Given the description of an element on the screen output the (x, y) to click on. 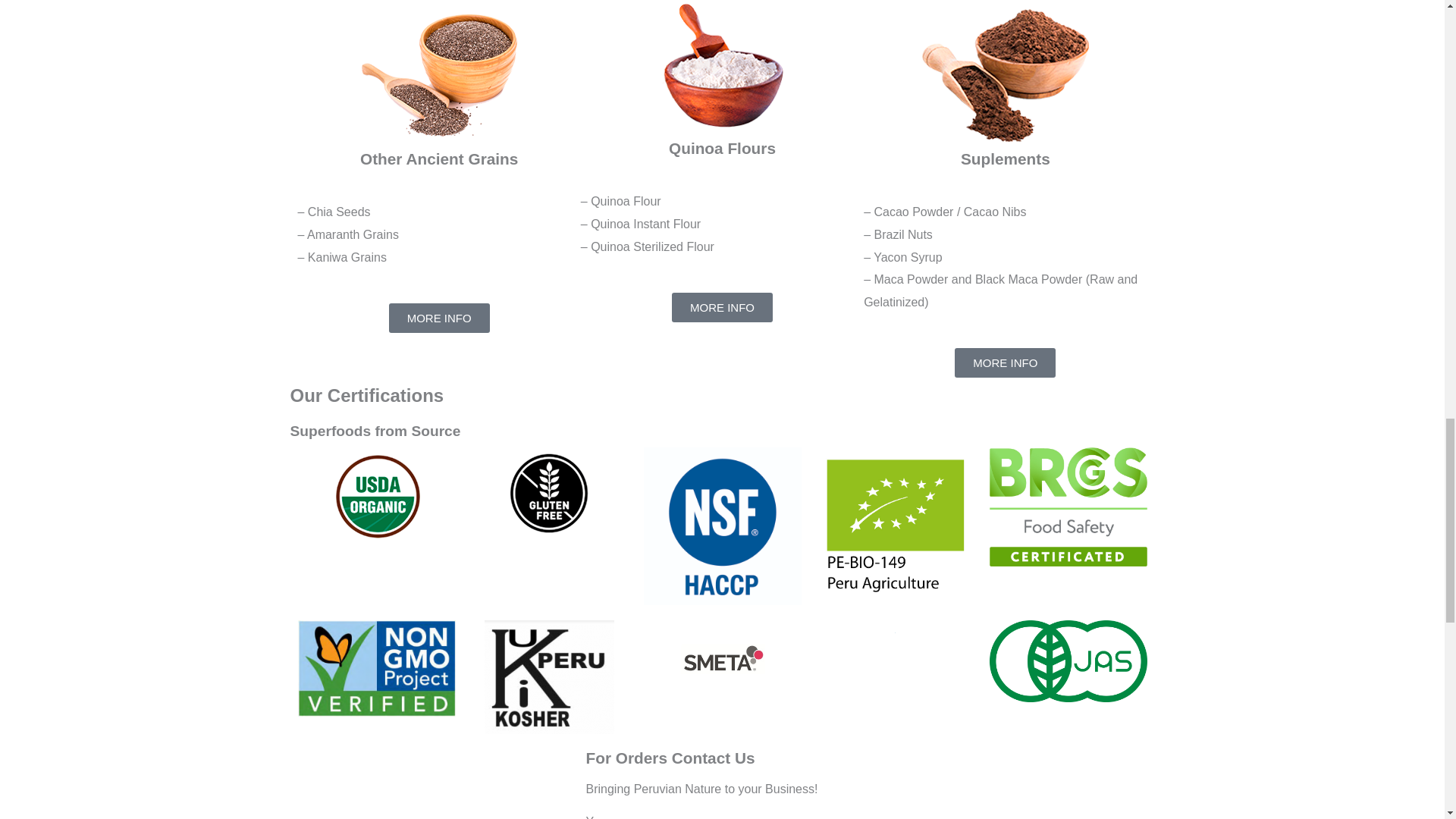
MORE INFO (438, 317)
